Given the description of an element on the screen output the (x, y) to click on. 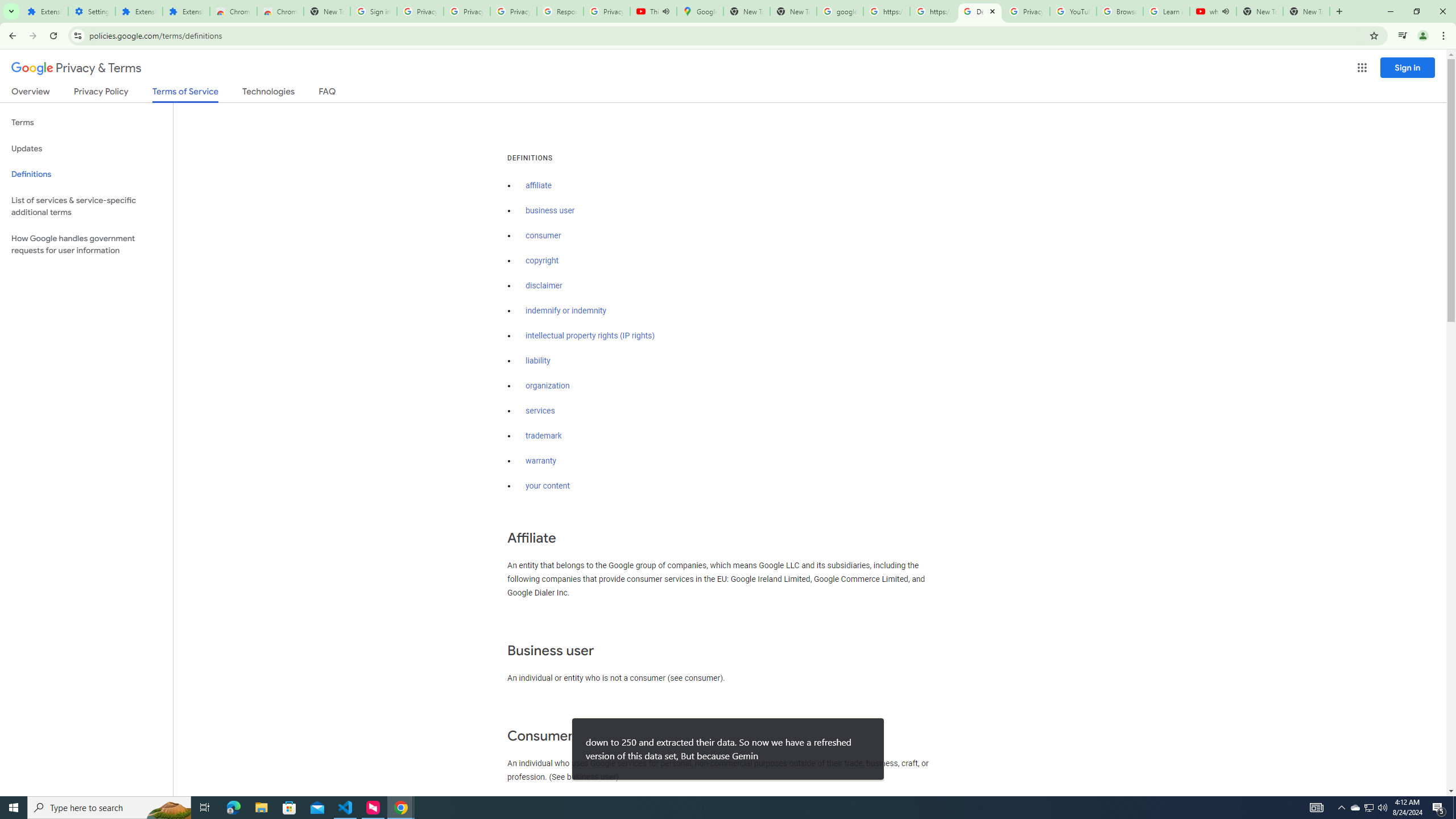
services (539, 411)
copyright (542, 260)
consumer (543, 235)
Extensions (138, 11)
warranty (540, 461)
New Tab (1306, 11)
